Given the description of an element on the screen output the (x, y) to click on. 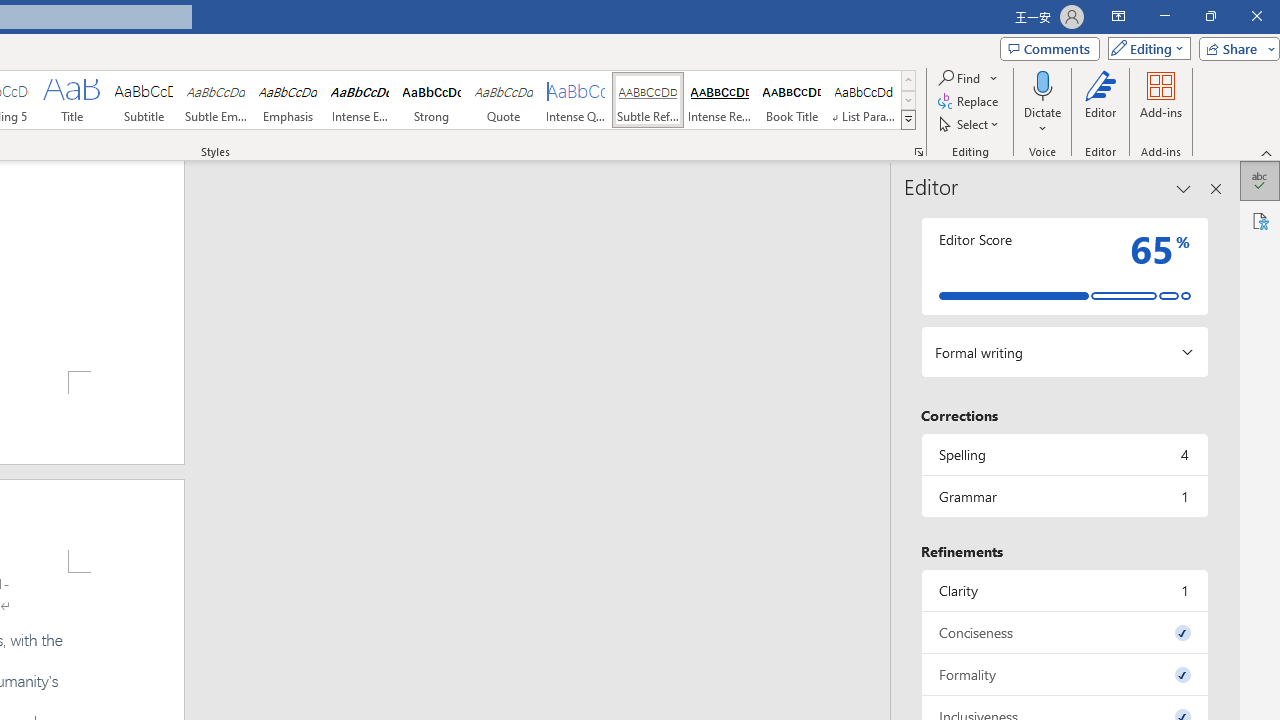
Subtle Emphasis (216, 100)
Intense Reference (719, 100)
Intense Emphasis (359, 100)
Conciseness, 0 issues. Press space or enter to review items. (1064, 632)
Grammar, 1 issue. Press space or enter to review items. (1064, 495)
